Given the description of an element on the screen output the (x, y) to click on. 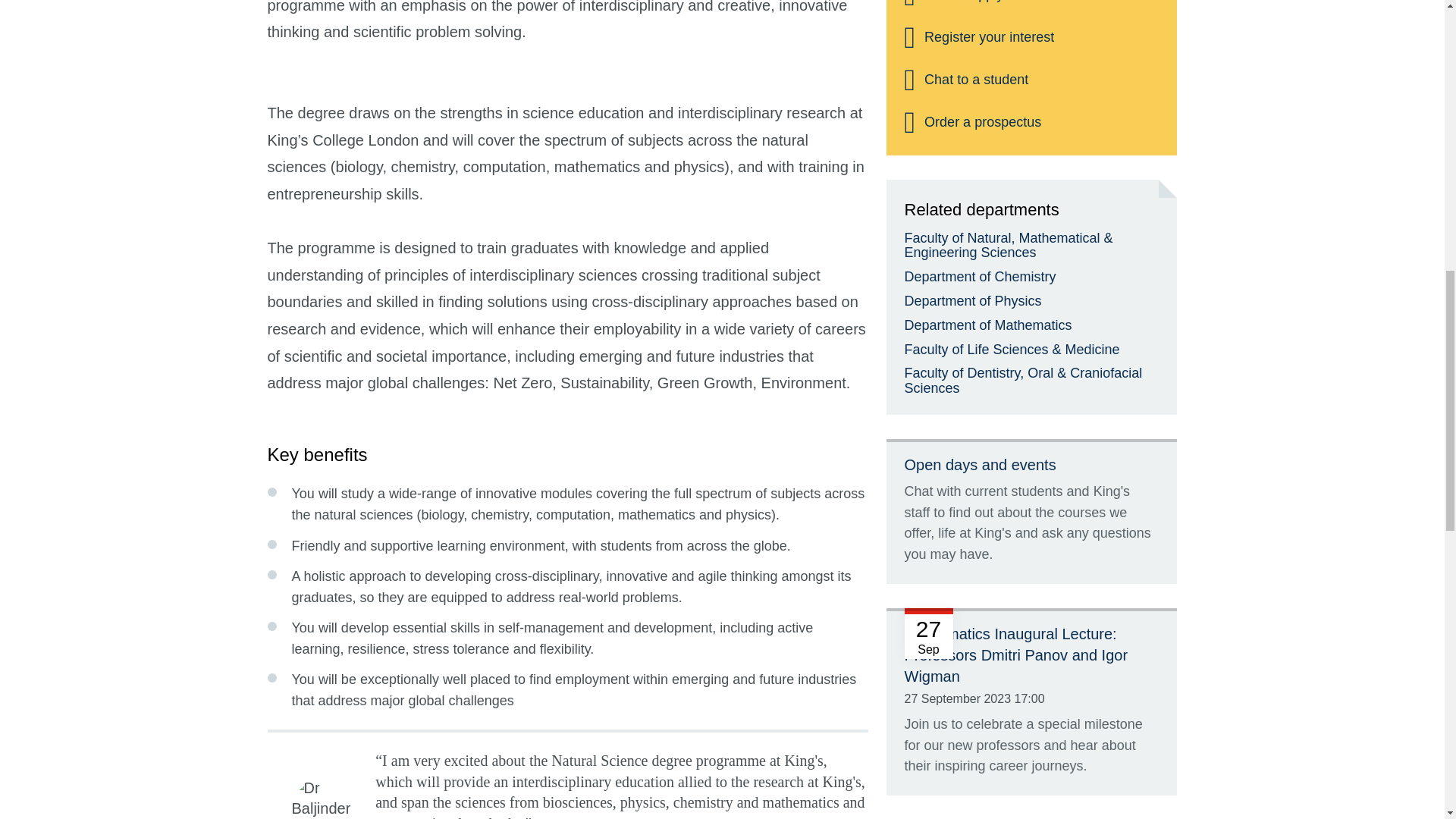
Open days and events (979, 464)
